Given the description of an element on the screen output the (x, y) to click on. 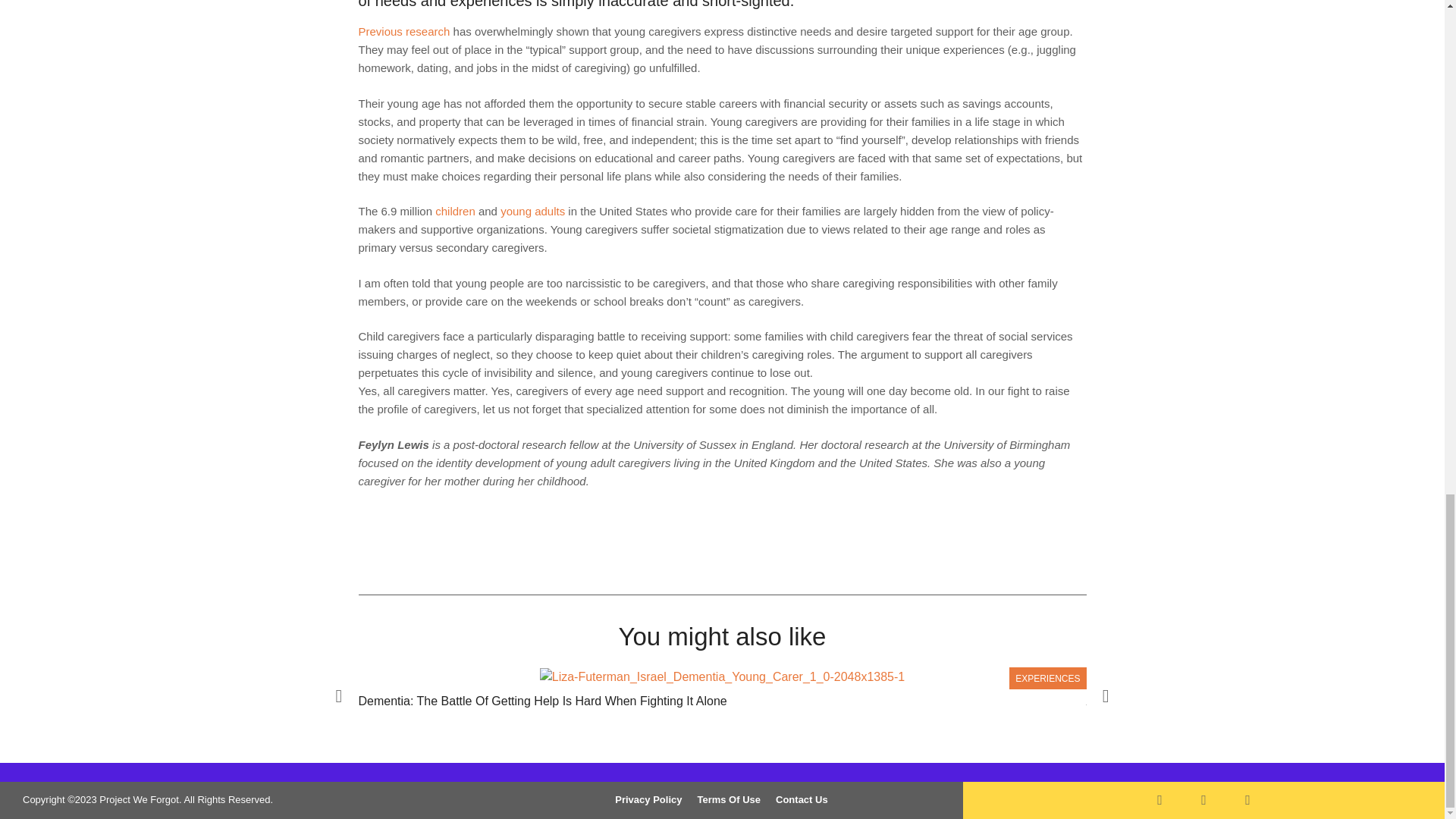
children (455, 210)
Previous research (403, 31)
young adults (532, 210)
